Given the description of an element on the screen output the (x, y) to click on. 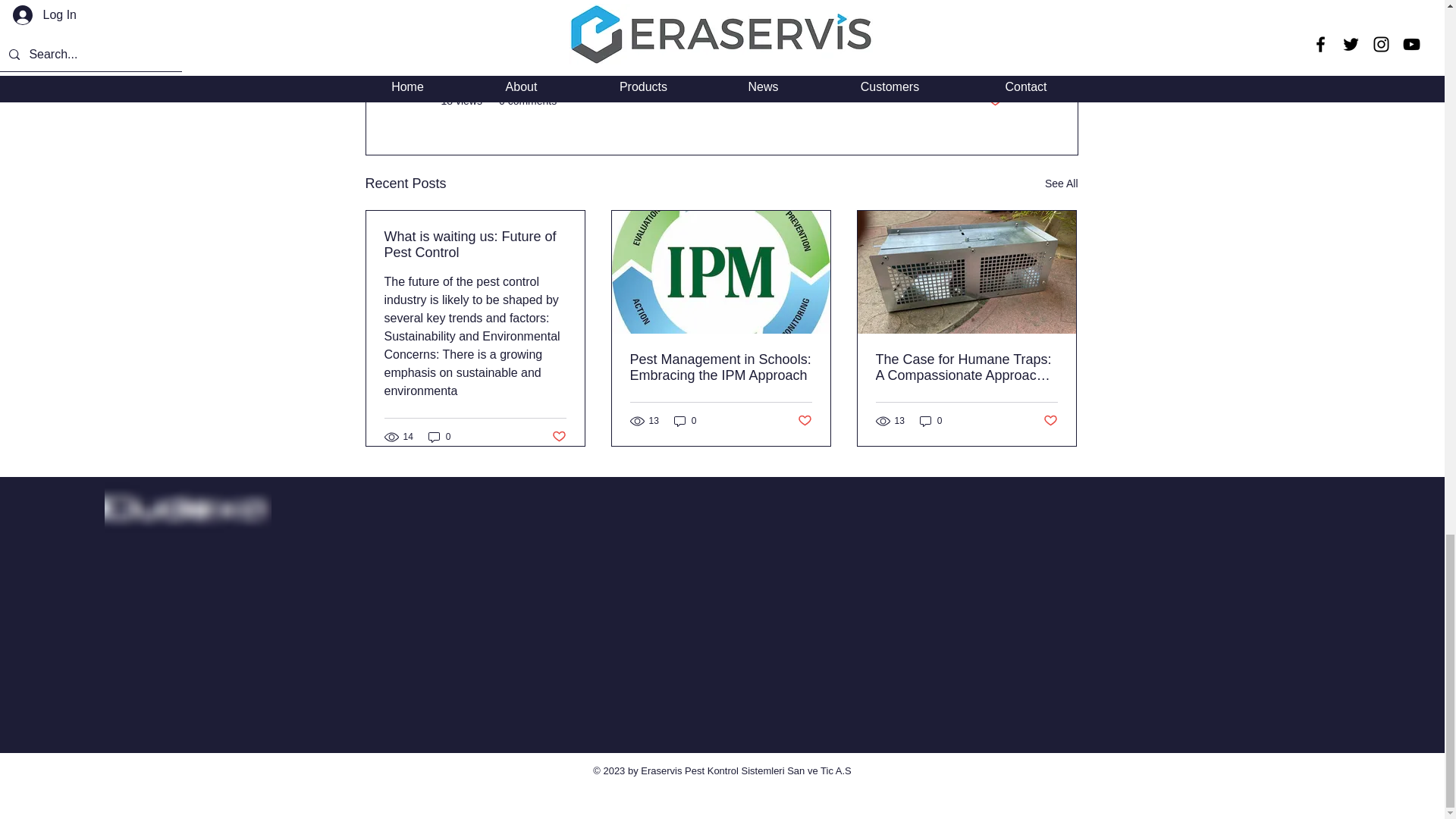
Post not marked as liked (558, 437)
Post not marked as liked (1050, 421)
Pest Management in Schools: Embracing the IPM Approach (719, 368)
See All (1061, 183)
0 (685, 421)
0 (439, 436)
Post not marked as liked (994, 100)
What is waiting us: Future of Pest Control (475, 245)
0 (930, 421)
